Given the description of an element on the screen output the (x, y) to click on. 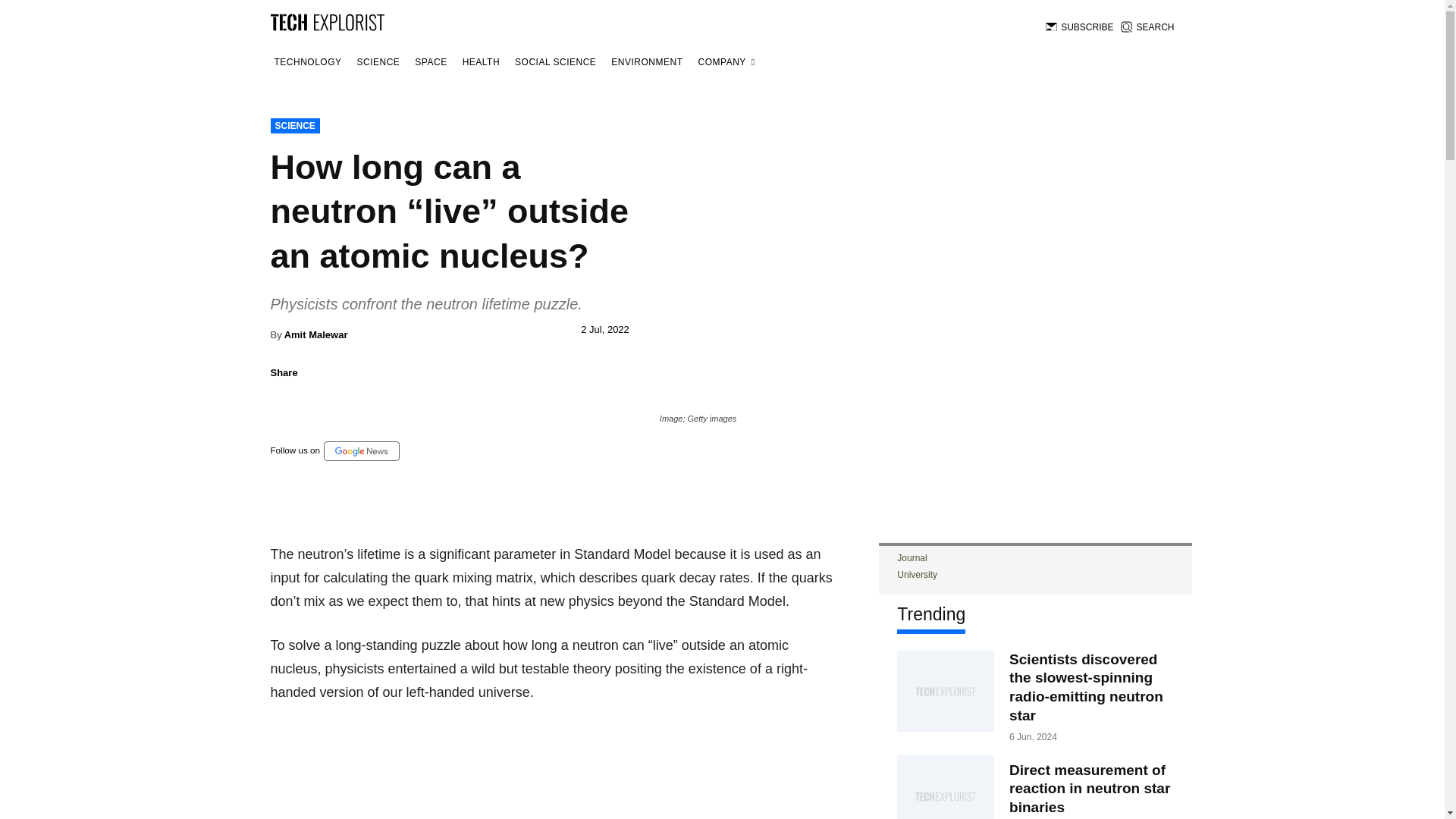
Health (480, 62)
COMPANY (726, 62)
SEARCH (1147, 26)
HEALTH (480, 62)
SCIENCE (378, 62)
TECHNOLOGY (307, 62)
SOCIAL SCIENCE (555, 62)
ENVIRONMENT (646, 62)
SUBSCRIBE (1079, 26)
SUBSCRIBE (1079, 26)
Technology (307, 62)
SCIENCE (293, 125)
SPACE (429, 62)
Tech Explorist (326, 21)
